Given the description of an element on the screen output the (x, y) to click on. 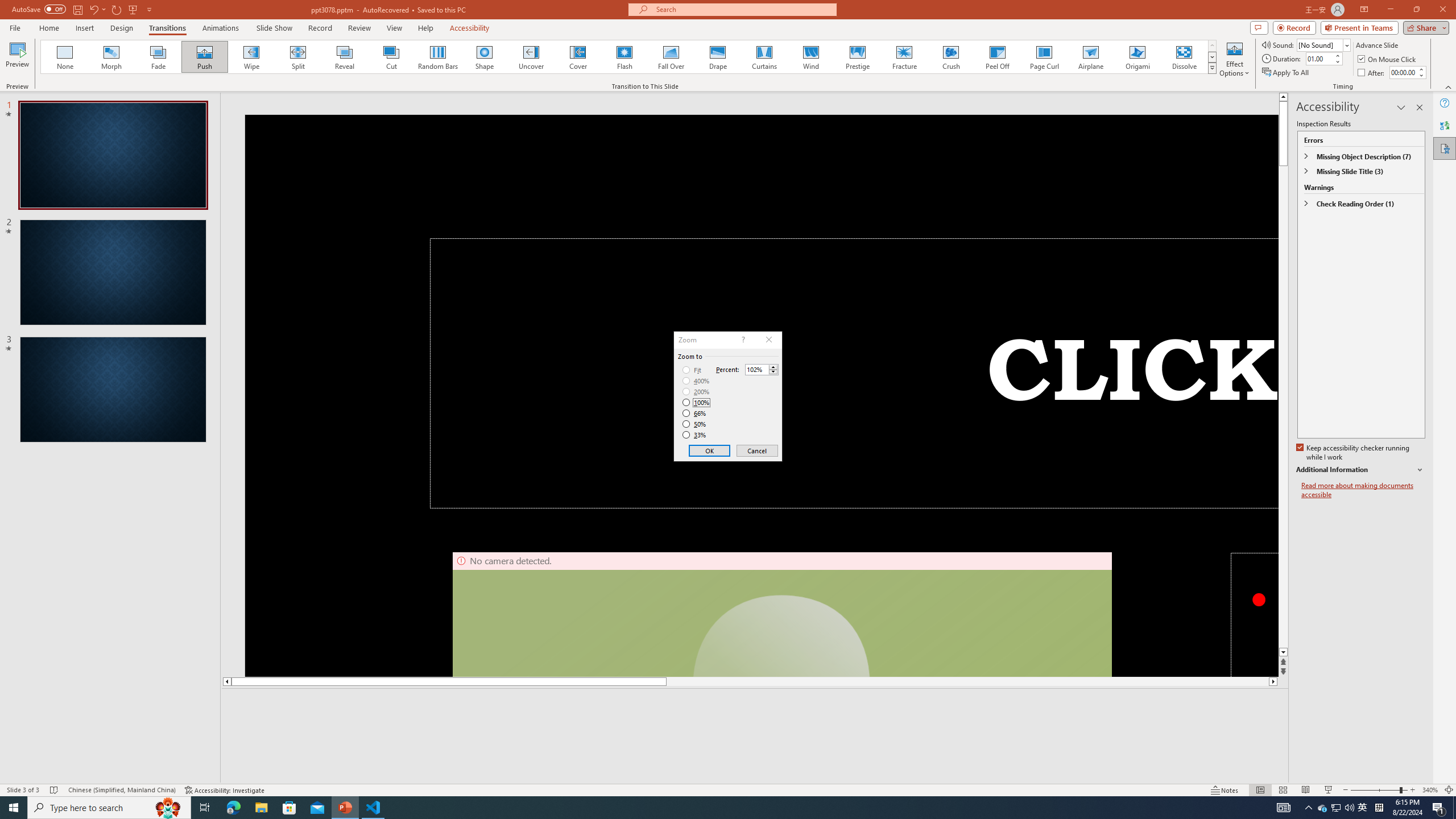
Zoom 340% (1430, 790)
100% (696, 402)
Tray Input Indicator - Chinese (Simplified, China) (1378, 807)
Cover (577, 56)
Notification Chevron (1308, 807)
More (772, 366)
User Promoted Notification Area (1336, 807)
200% (696, 391)
Uncover (531, 56)
